Given the description of an element on the screen output the (x, y) to click on. 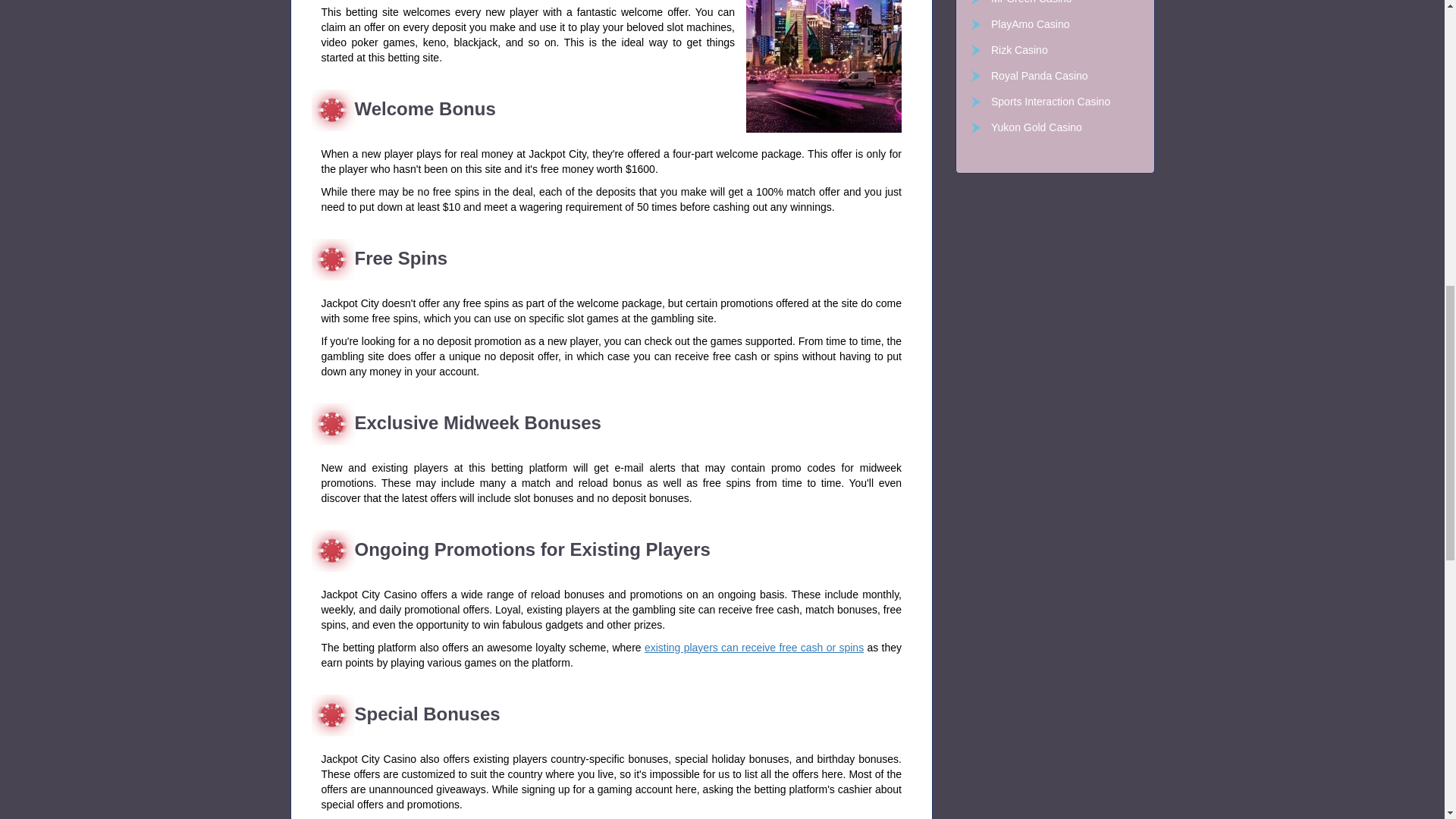
Sports Interaction Casino (1054, 101)
existing players can receive free cash or spins (754, 647)
Yukon Gold Casino (1054, 127)
Rizk Casino (1054, 49)
Royal Panda Casino (1054, 75)
Mr Green Casino (1054, 2)
PlayAmo Casino (1054, 23)
